Given the description of an element on the screen output the (x, y) to click on. 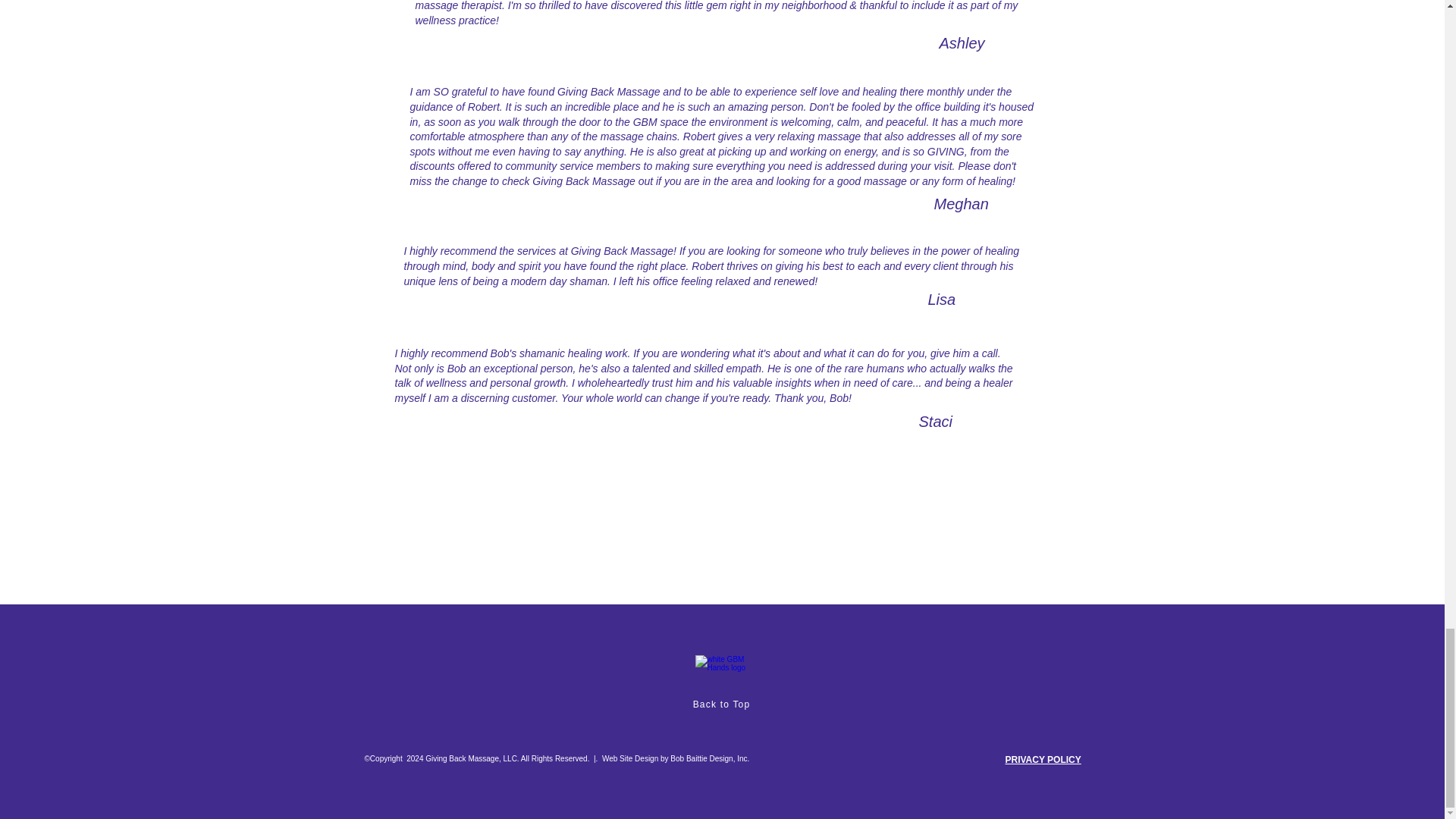
PRIVACY POLICY (1043, 759)
Back to Top (722, 704)
